Given the description of an element on the screen output the (x, y) to click on. 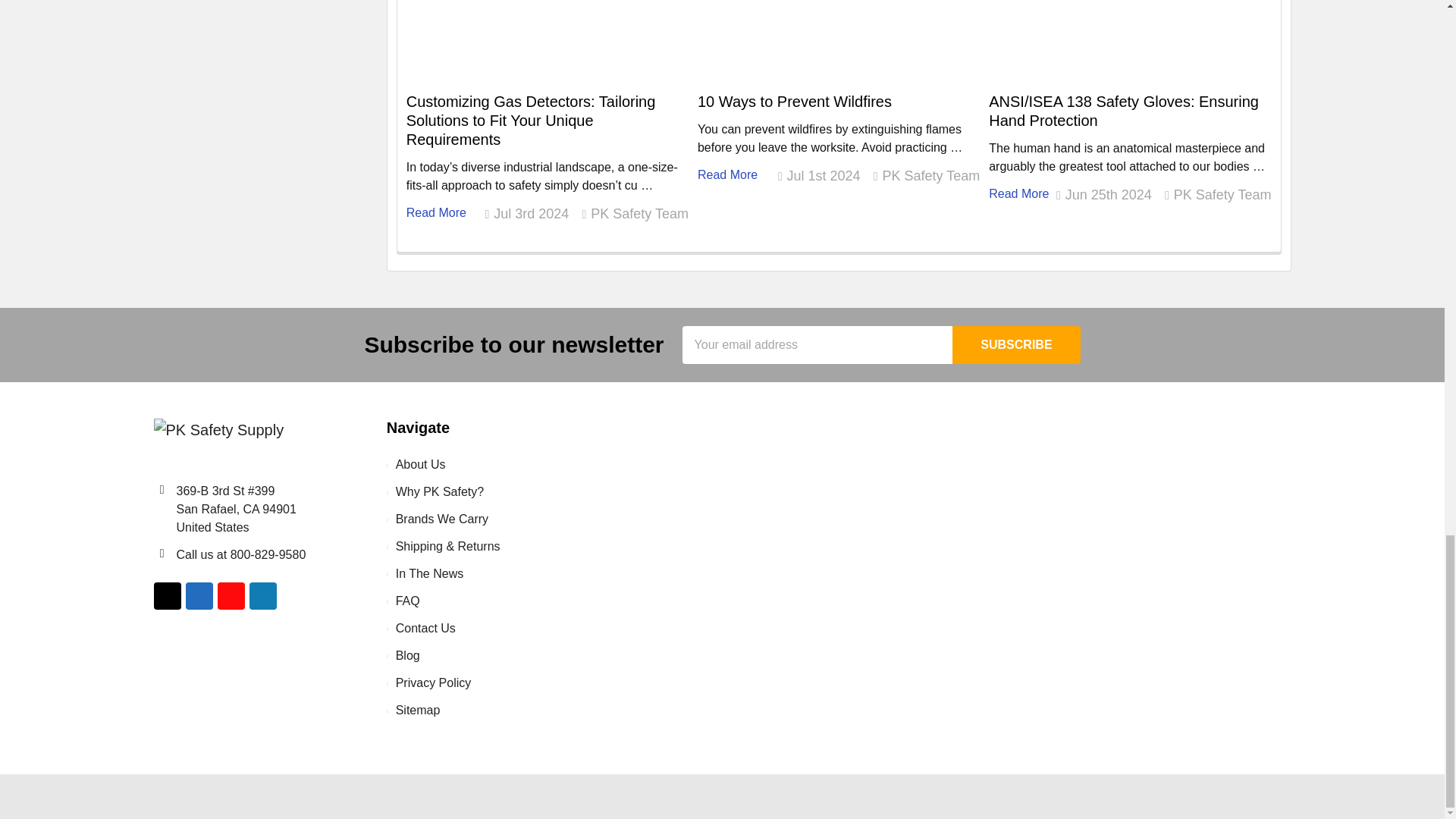
Youtube (230, 595)
Facebook (198, 595)
Subscribe (1016, 344)
Linkedin (262, 595)
PK Safety Supply (217, 441)
Twitter (166, 595)
10 Ways to Prevent Wildfires  (838, 46)
